Given the description of an element on the screen output the (x, y) to click on. 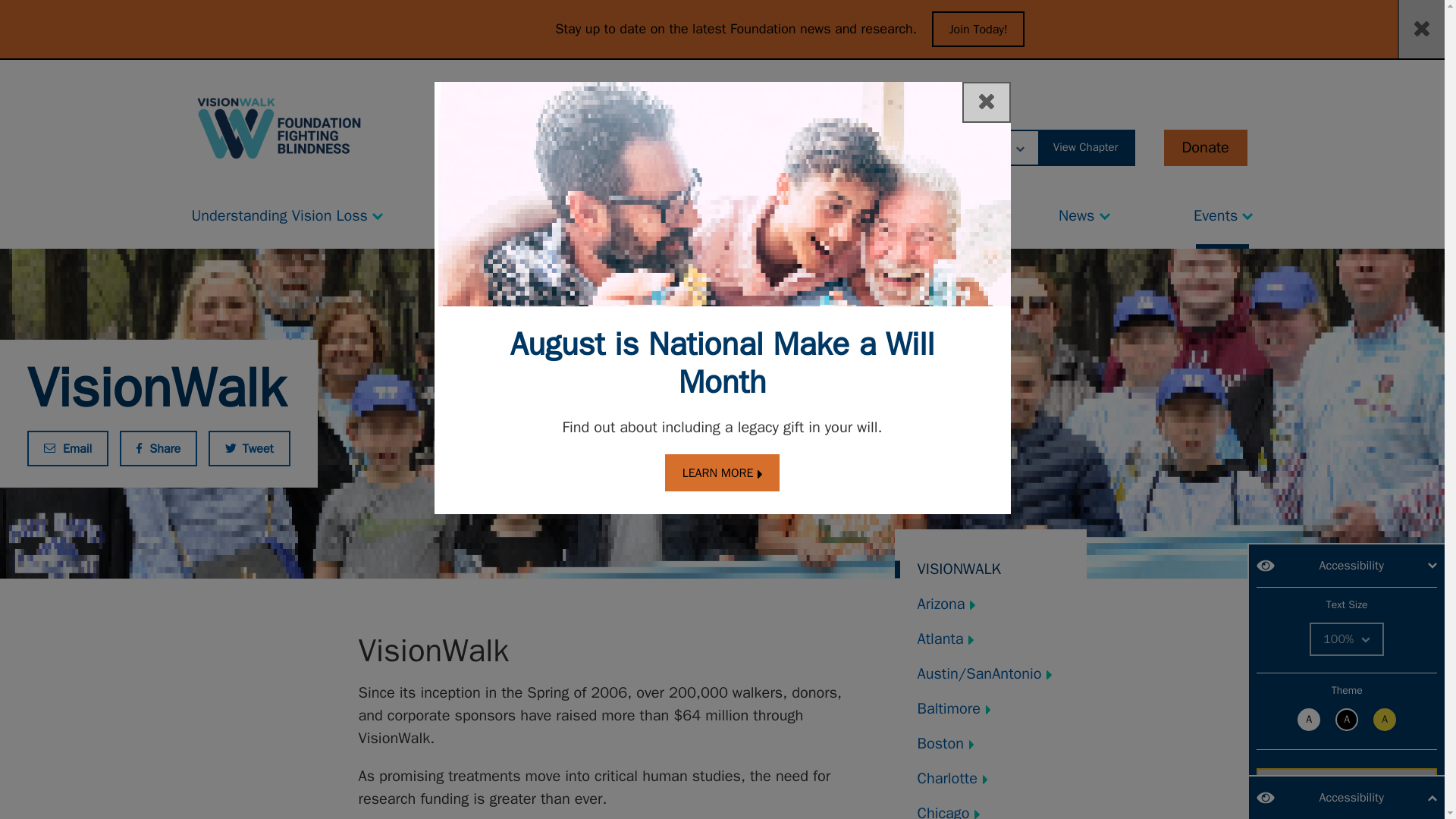
Living With Vision Loss (550, 211)
Donate (1204, 147)
Close (985, 101)
Join Today! (978, 28)
View Chapter (1086, 147)
Research (755, 211)
LEARN MORE (722, 472)
Search (811, 147)
Understanding Vision Loss (286, 211)
